Given the description of an element on the screen output the (x, y) to click on. 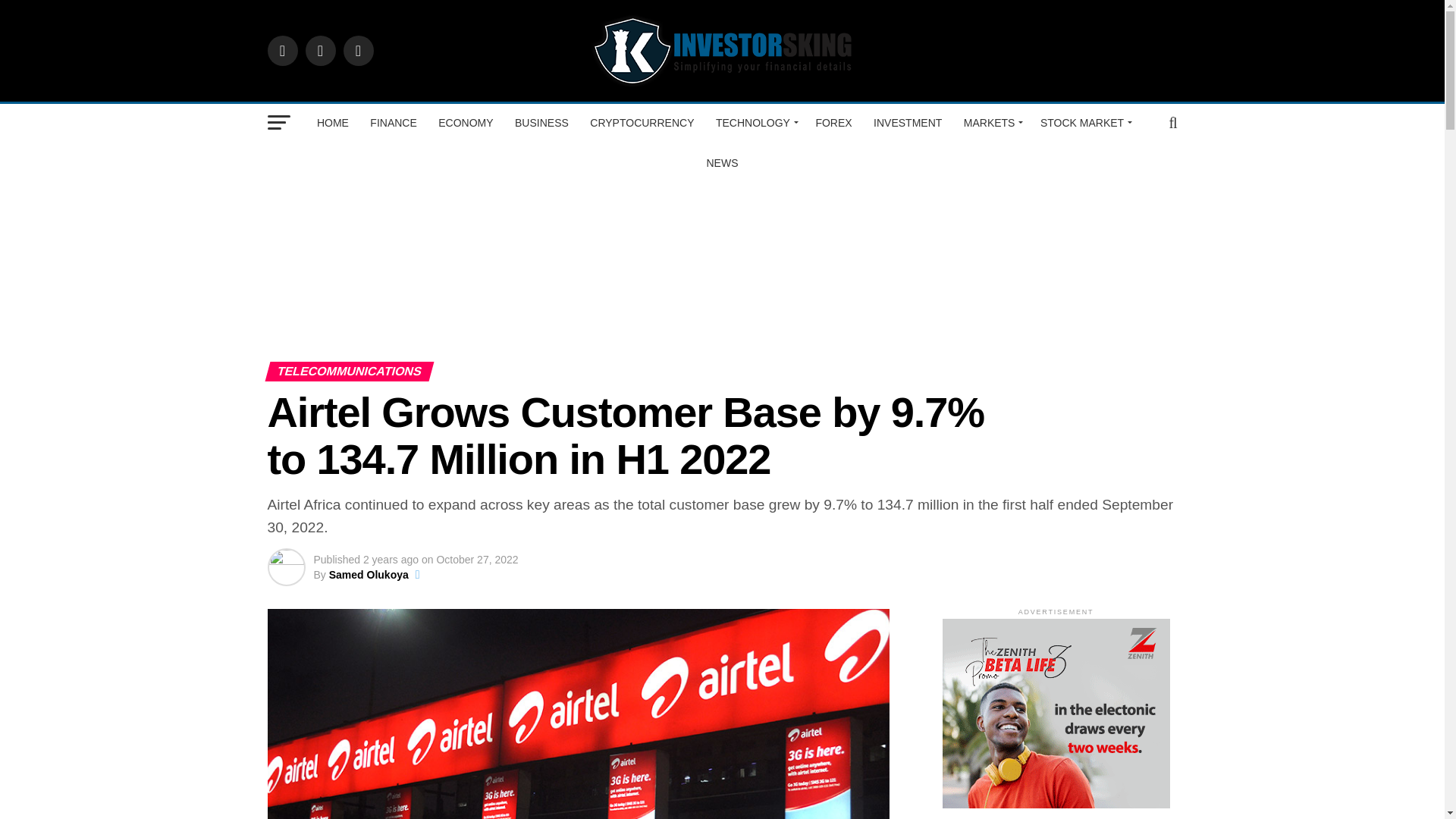
FINANCE (393, 122)
CRYPTOCURRENCY (641, 122)
TECHNOLOGY (754, 122)
HOME (332, 122)
STOCK MARKET (1083, 122)
FOREX (833, 122)
MARKETS (991, 122)
ECONOMY (465, 122)
INVESTMENT (907, 122)
Posts by Samed Olukoya (369, 574)
BUSINESS (541, 122)
